Given the description of an element on the screen output the (x, y) to click on. 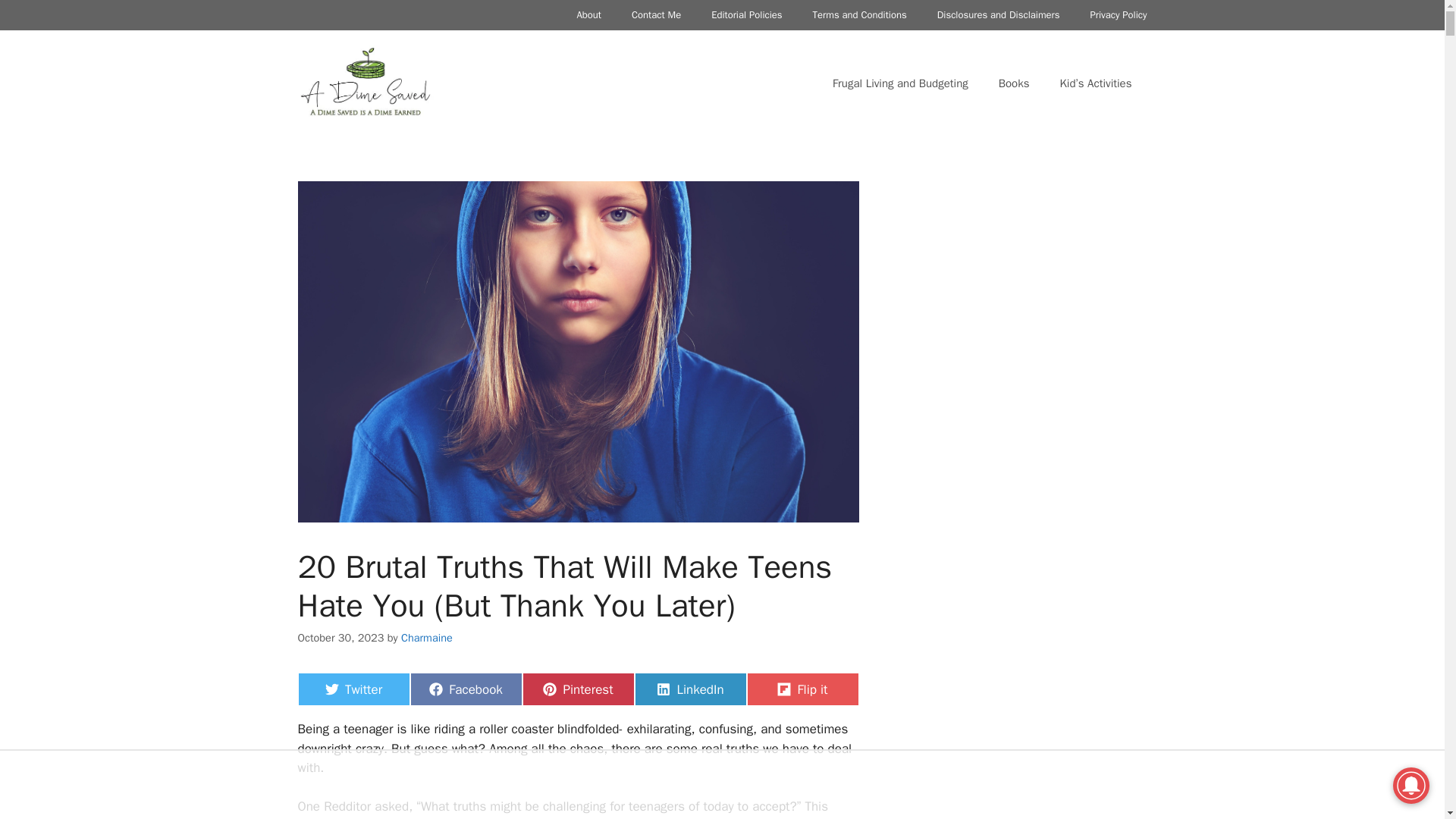
Contact Me (465, 688)
About (655, 15)
Editorial Policies (588, 15)
Disclosures and Disclaimers (745, 15)
View all posts by Charmaine (577, 688)
Books (689, 688)
